Given the description of an element on the screen output the (x, y) to click on. 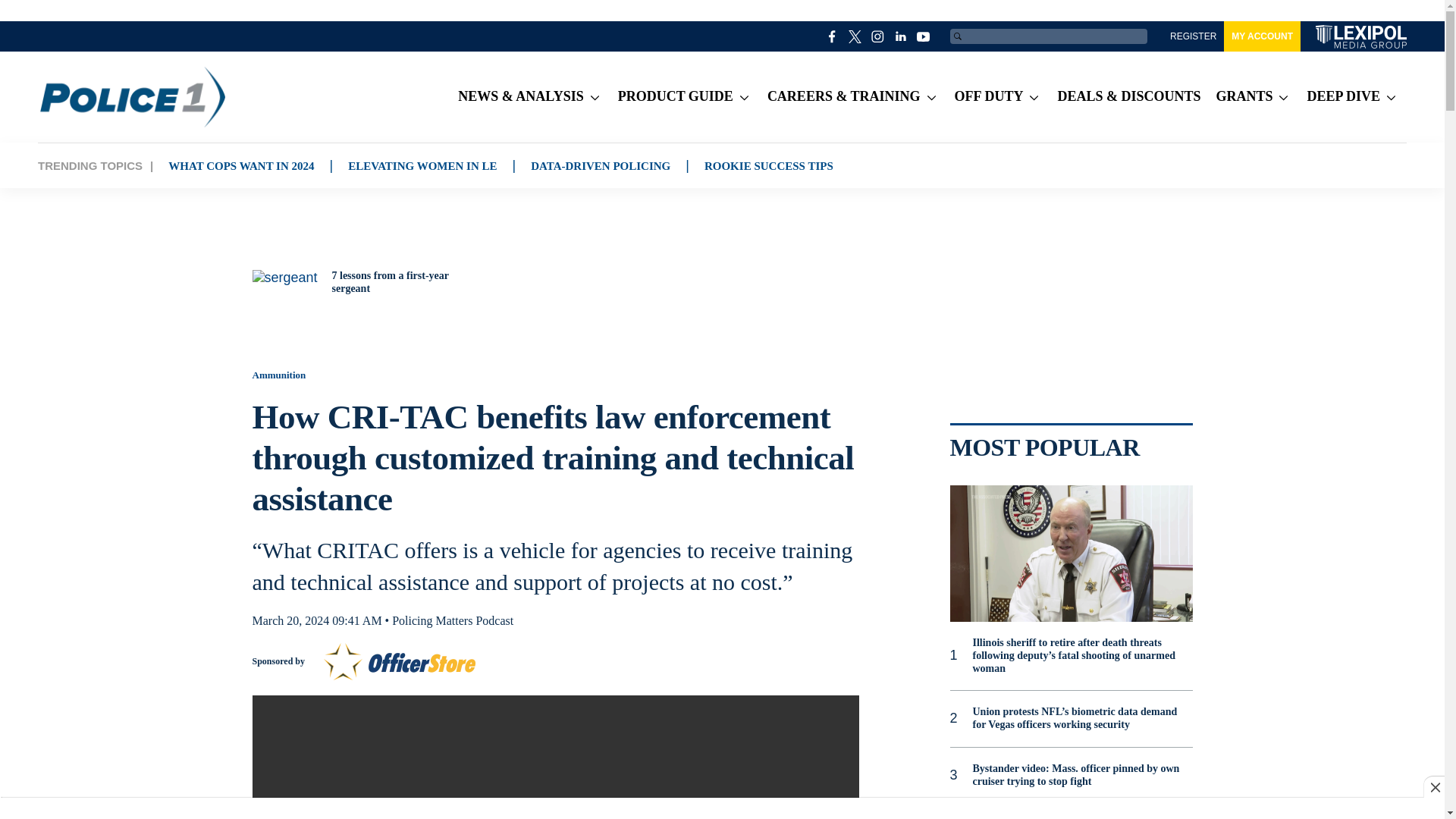
linkedin (900, 36)
REGISTER (1192, 36)
instagram (877, 36)
youtube (923, 36)
twitter (855, 36)
MY ACCOUNT (1262, 36)
facebook (832, 36)
